Given the description of an element on the screen output the (x, y) to click on. 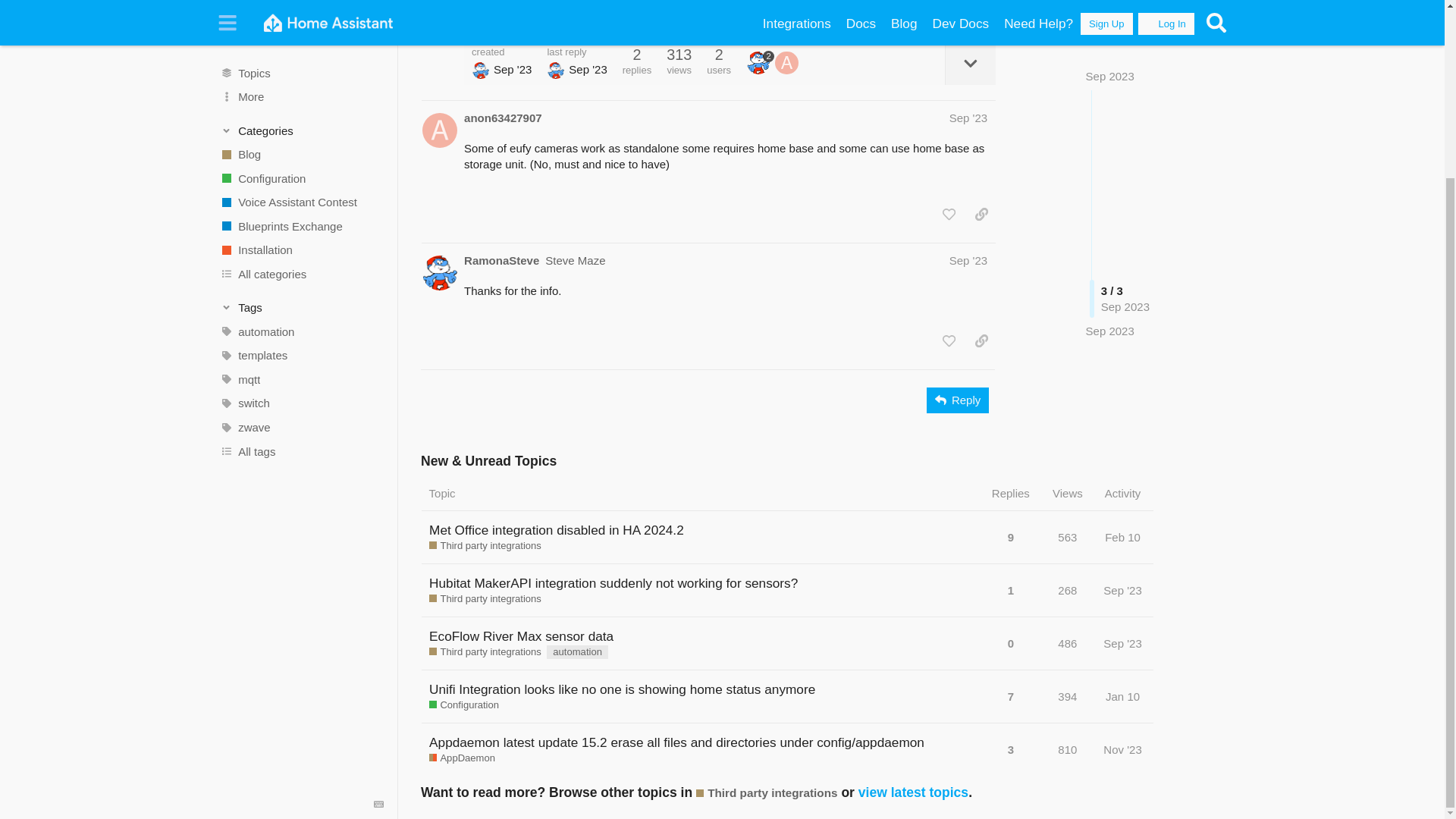
mqtt (301, 162)
Sep 2023 (1110, 160)
templates (301, 138)
automation (301, 115)
Installation (301, 33)
Blueprints Exchange (301, 10)
switch (301, 186)
zwave (301, 210)
Tags (301, 90)
All tags (301, 233)
Toggle section (301, 90)
All categories (301, 57)
